Given the description of an element on the screen output the (x, y) to click on. 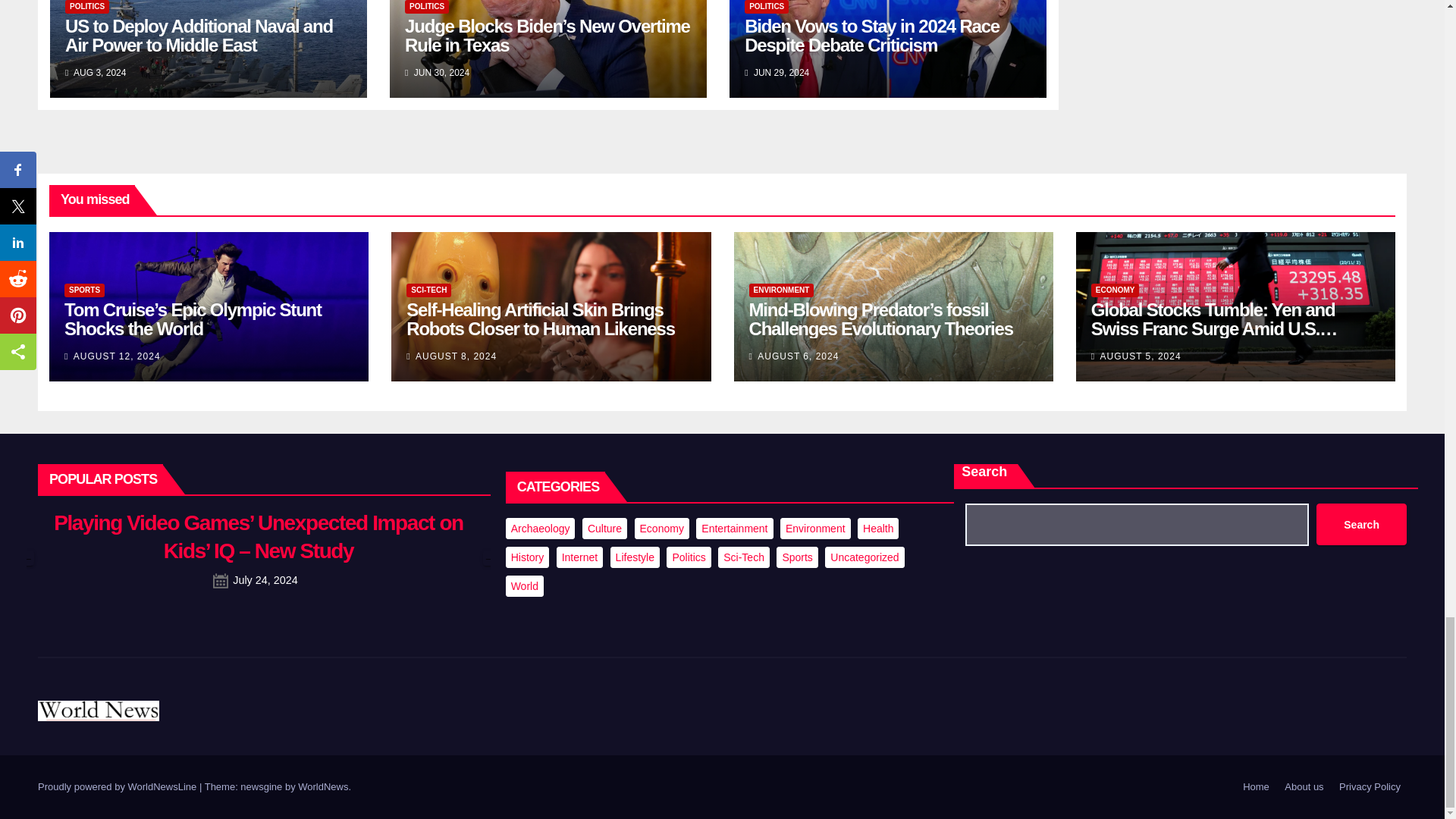
POLITICS (766, 6)
POLITICS (426, 6)
POLITICS (87, 6)
US to Deploy Additional Naval and Air Power to Middle East (199, 35)
Biden Vows to Stay in 2024 Race Despite Debate Criticism (871, 35)
